Given the description of an element on the screen output the (x, y) to click on. 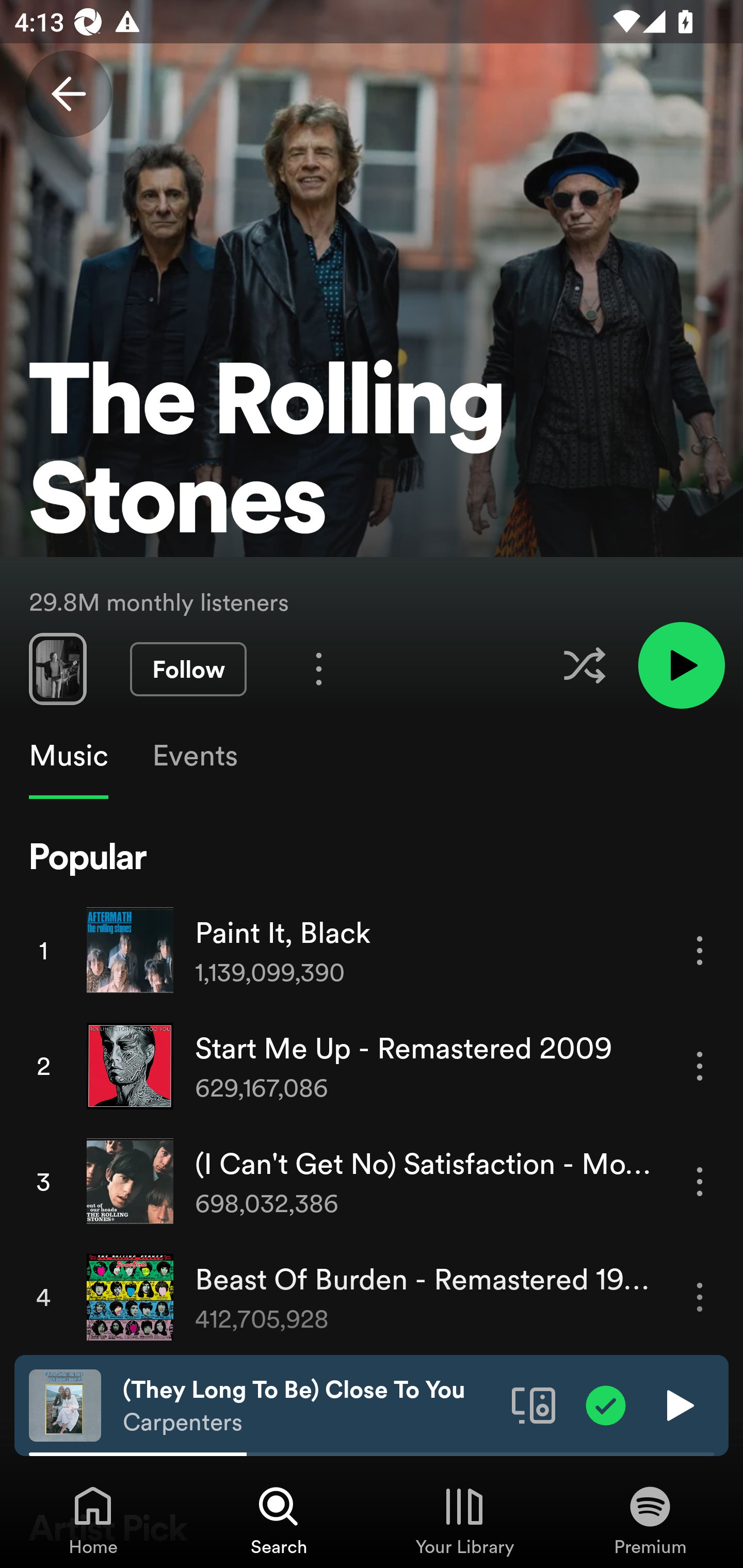
Back (68, 93)
Play artist (681, 664)
Enable shuffle for this artist (583, 665)
Swipe through previews of tracks from this artist. (57, 668)
More options for artist The Rolling Stones (318, 668)
Follow (188, 669)
Events (194, 755)
More options for song Paint It, Black (699, 950)
(They Long To Be) Close To You Carpenters (309, 1405)
The cover art of the currently playing track (64, 1404)
Connect to a device. Opens the devices menu (533, 1404)
Item added (605, 1404)
Play (677, 1404)
Home, Tab 1 of 4 Home Home (92, 1519)
Search, Tab 2 of 4 Search Search (278, 1519)
Your Library, Tab 3 of 4 Your Library Your Library (464, 1519)
Premium, Tab 4 of 4 Premium Premium (650, 1519)
